Given the description of an element on the screen output the (x, y) to click on. 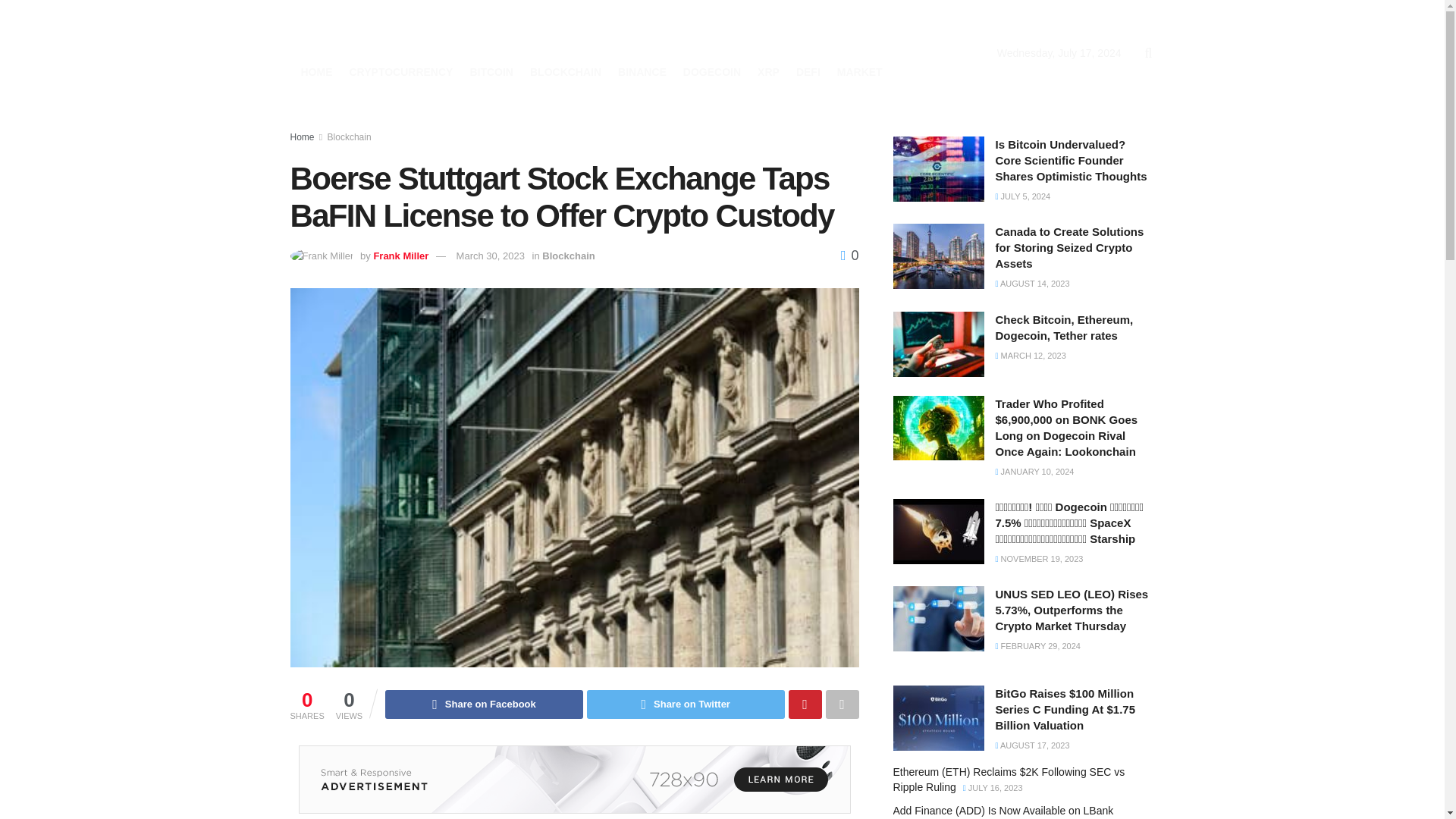
Share on Twitter (685, 704)
DEFI (808, 71)
0 (850, 255)
Frank Miller (400, 255)
Share on Facebook (484, 704)
BLOCKCHAIN (565, 71)
DEFI MAGNETS (426, 34)
Blockchain (567, 255)
BITCOIN (490, 71)
March 30, 2023 (490, 255)
CRYPTOCURRENCY (400, 71)
XRP (767, 71)
Blockchain (349, 136)
BINANCE (641, 71)
Home (301, 136)
